Given the description of an element on the screen output the (x, y) to click on. 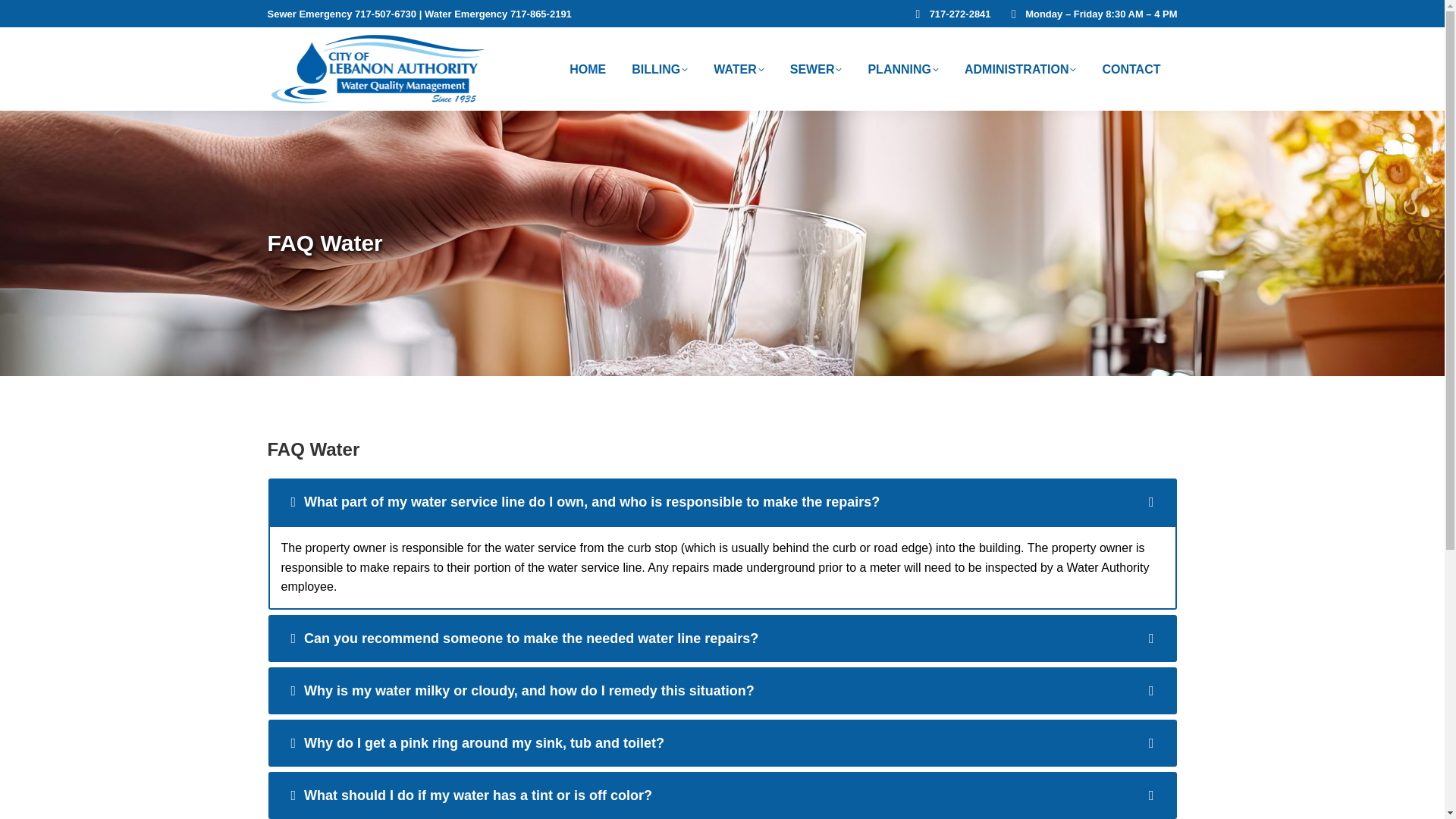
WATER (738, 68)
ADMINISTRATION (1019, 68)
SEWER (815, 68)
CONTACT (1131, 68)
PLANNING (903, 68)
BILLING (660, 68)
HOME (587, 68)
